Given the description of an element on the screen output the (x, y) to click on. 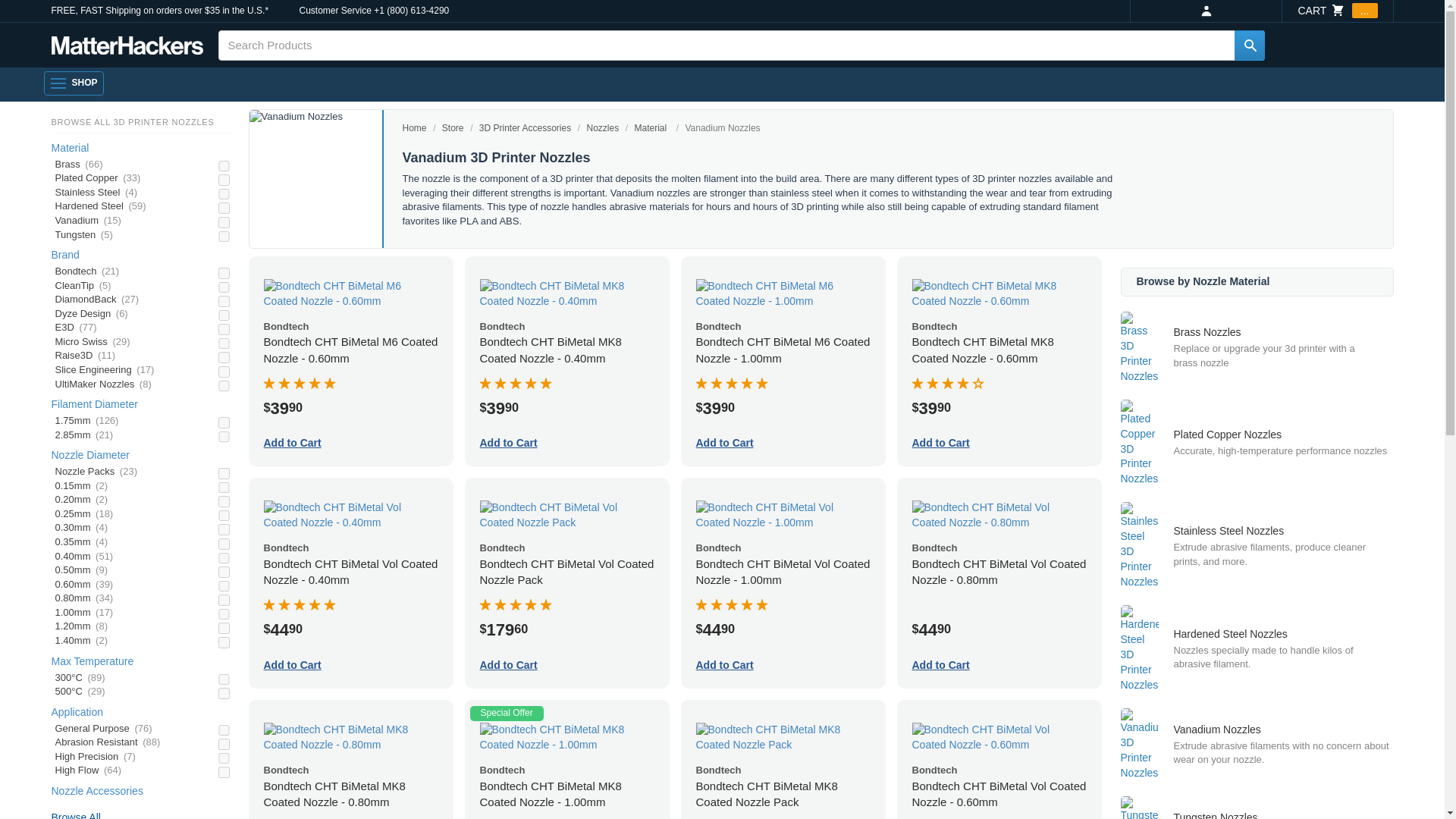
Bondtech CHT BiMetal MK8 Coated Nozzle - 0.60mm (998, 294)
MatterHackers (126, 45)
